Given the description of an element on the screen output the (x, y) to click on. 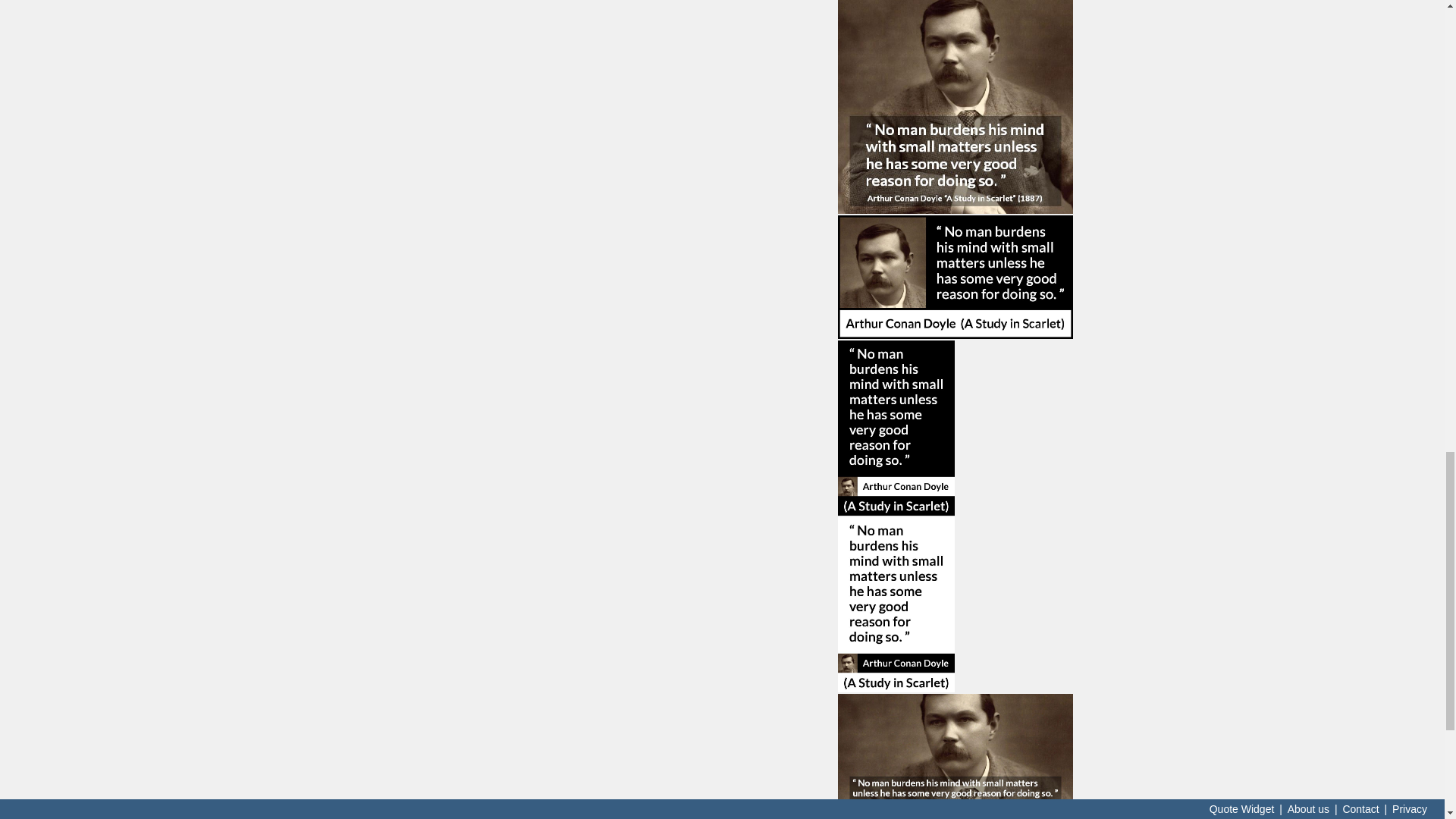
Arthur Conan Doyle quote about mind from A Study in Scarlet (955, 106)
Arthur Conan Doyle quote about mind from A Study in Scarlet (955, 755)
Arthur Conan Doyle quote about mind from A Study in Scarlet (955, 277)
